Given the description of an element on the screen output the (x, y) to click on. 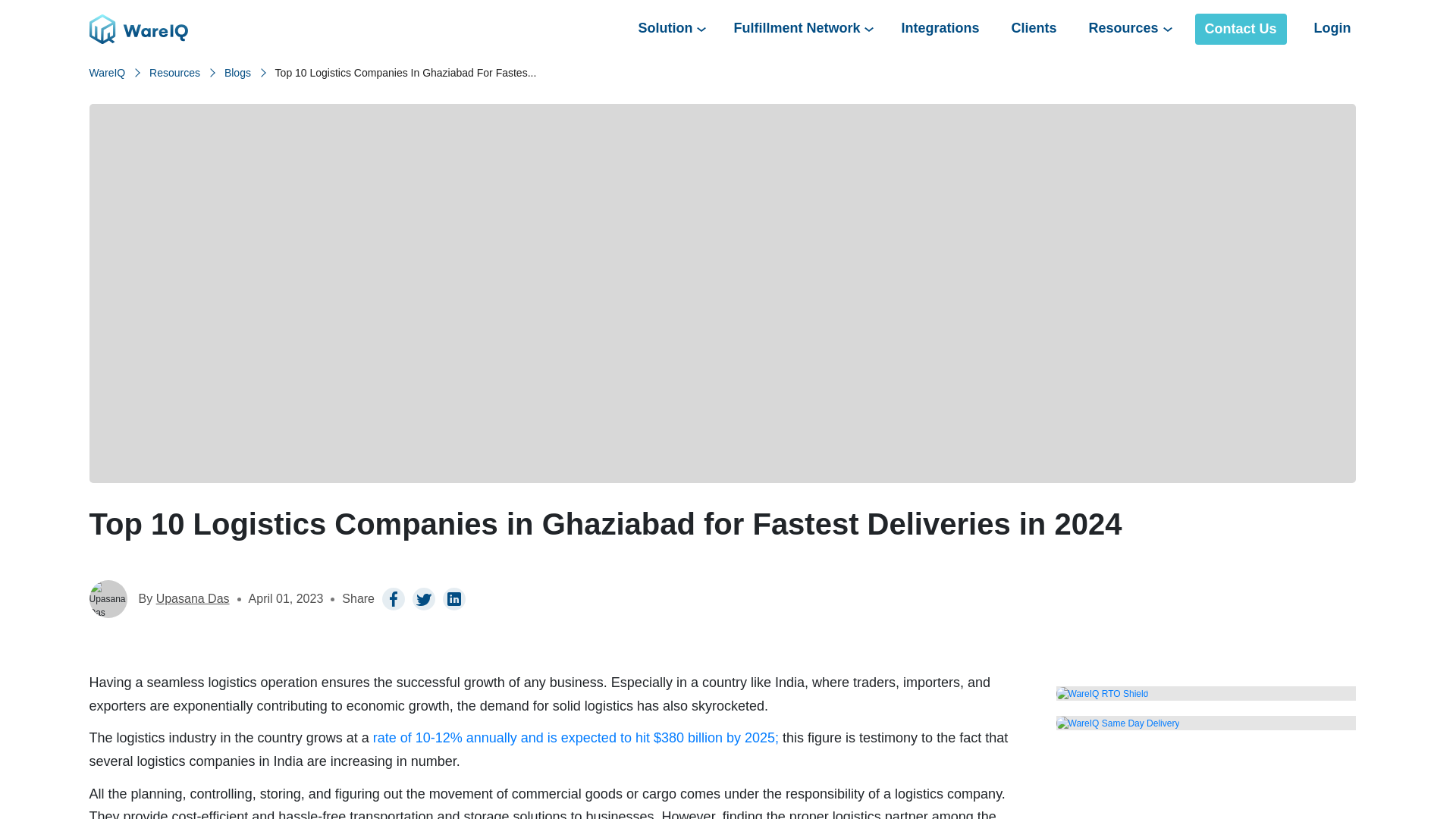
Login (1331, 28)
Integrations (940, 28)
Clients (1033, 28)
Contact Us (1241, 29)
